Given the description of an element on the screen output the (x, y) to click on. 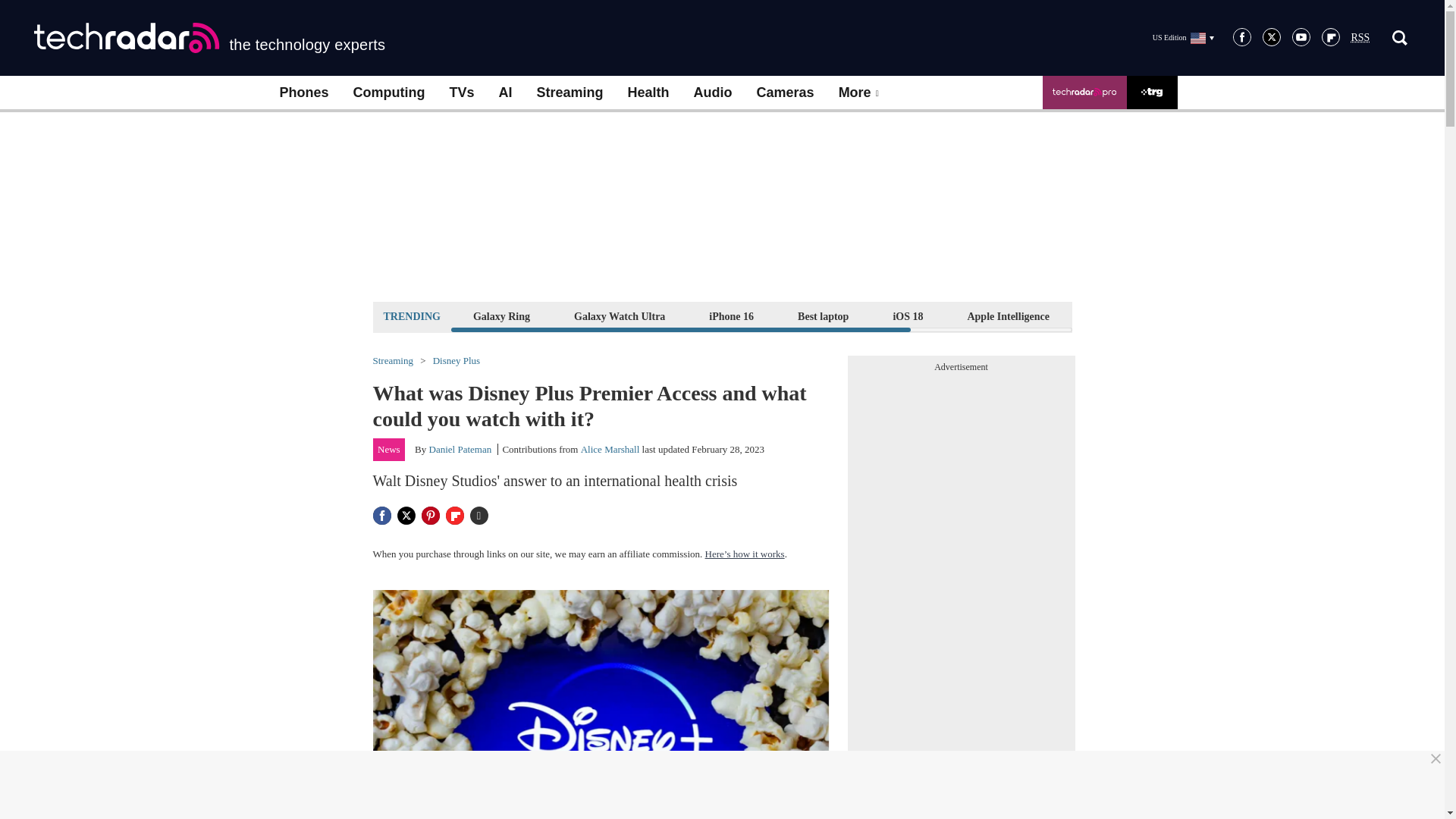
US Edition (1182, 37)
Audio (712, 92)
Health (648, 92)
TVs (461, 92)
Phones (303, 92)
Streaming (569, 92)
Cameras (785, 92)
AI (505, 92)
Really Simple Syndication (1360, 37)
Computing (389, 92)
the technology experts (209, 38)
